Given the description of an element on the screen output the (x, y) to click on. 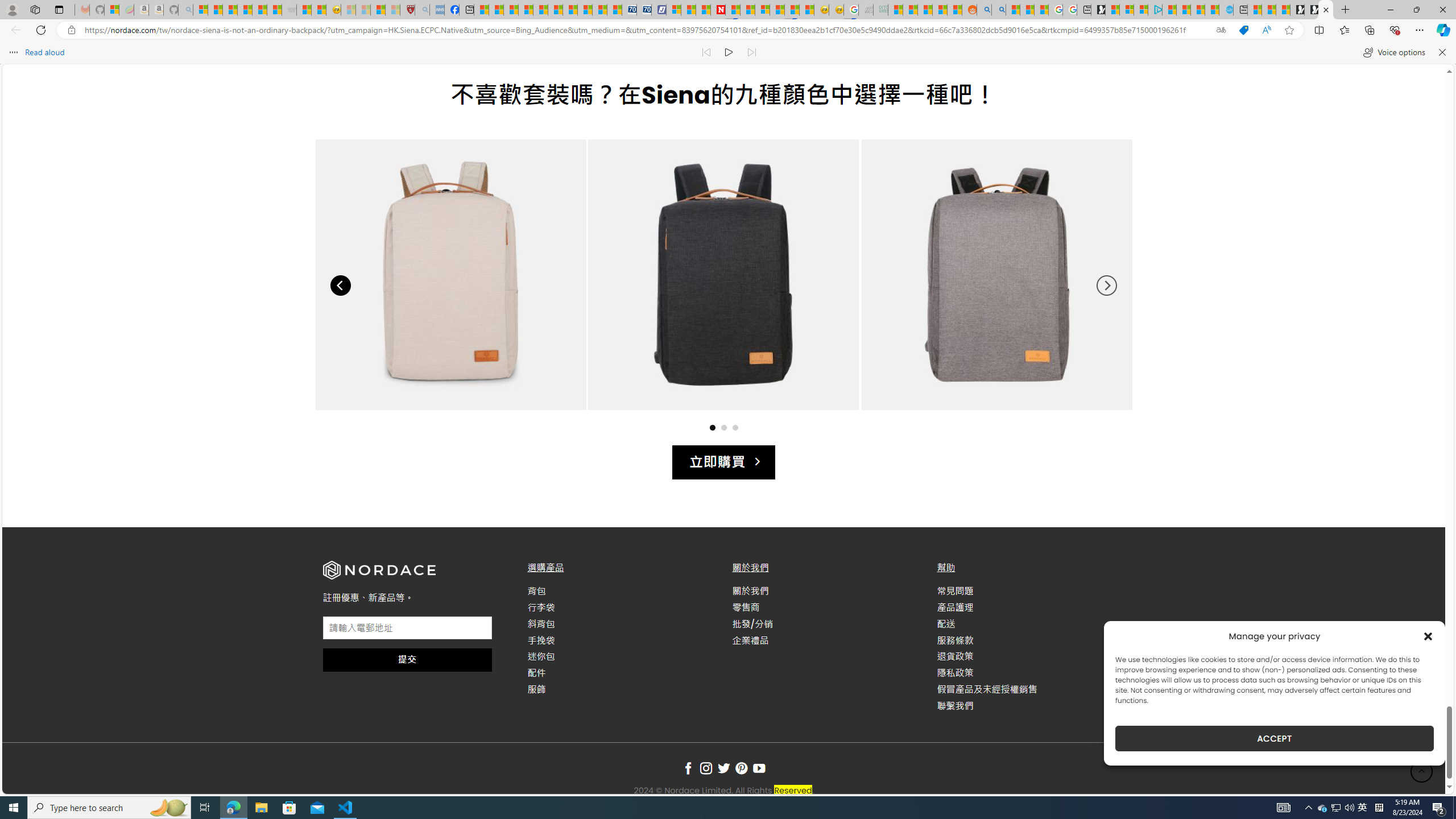
Home | Sky Blue Bikes - Sky Blue Bikes (1225, 9)
MSNBC - MSN (895, 9)
DITOGAMES AG Imprint - Sleeping (879, 9)
New Tab (1346, 9)
Science - MSN (377, 9)
AutomationID: field_4_1 (406, 628)
Close (1442, 9)
Follow on Pinterest (740, 768)
